Given the description of an element on the screen output the (x, y) to click on. 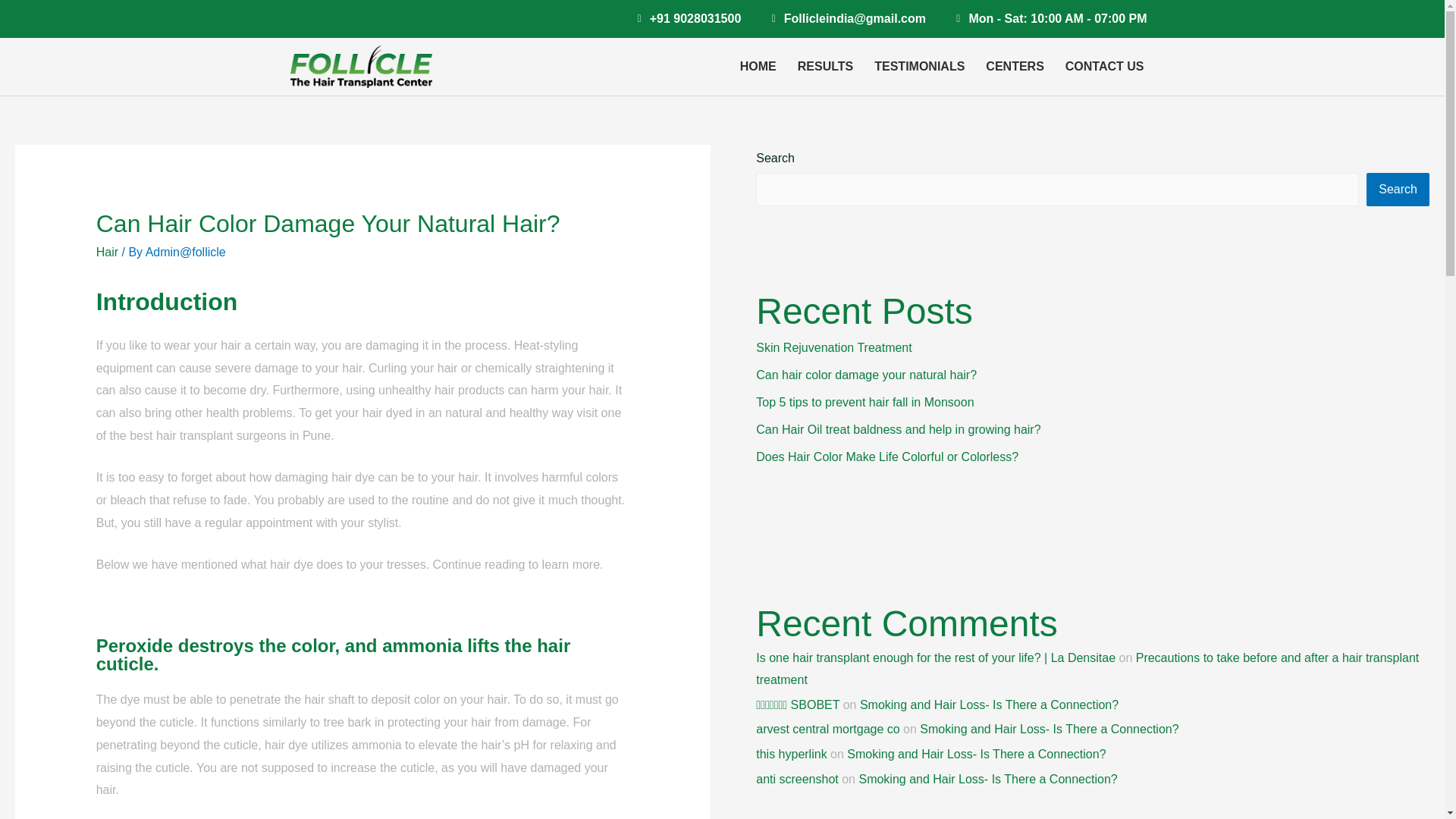
anti screenshot (796, 779)
Search (1398, 189)
this hyperlink (791, 753)
Does Hair Color Make Life Colorful or Colorless? (886, 456)
CONTACT US (1104, 66)
Hair (106, 251)
Smoking and Hair Loss- Is There a Connection? (989, 704)
HOME (758, 66)
Smoking and Hair Loss- Is There a Connection? (1048, 728)
arvest central mortgage co (827, 728)
